Given the description of an element on the screen output the (x, y) to click on. 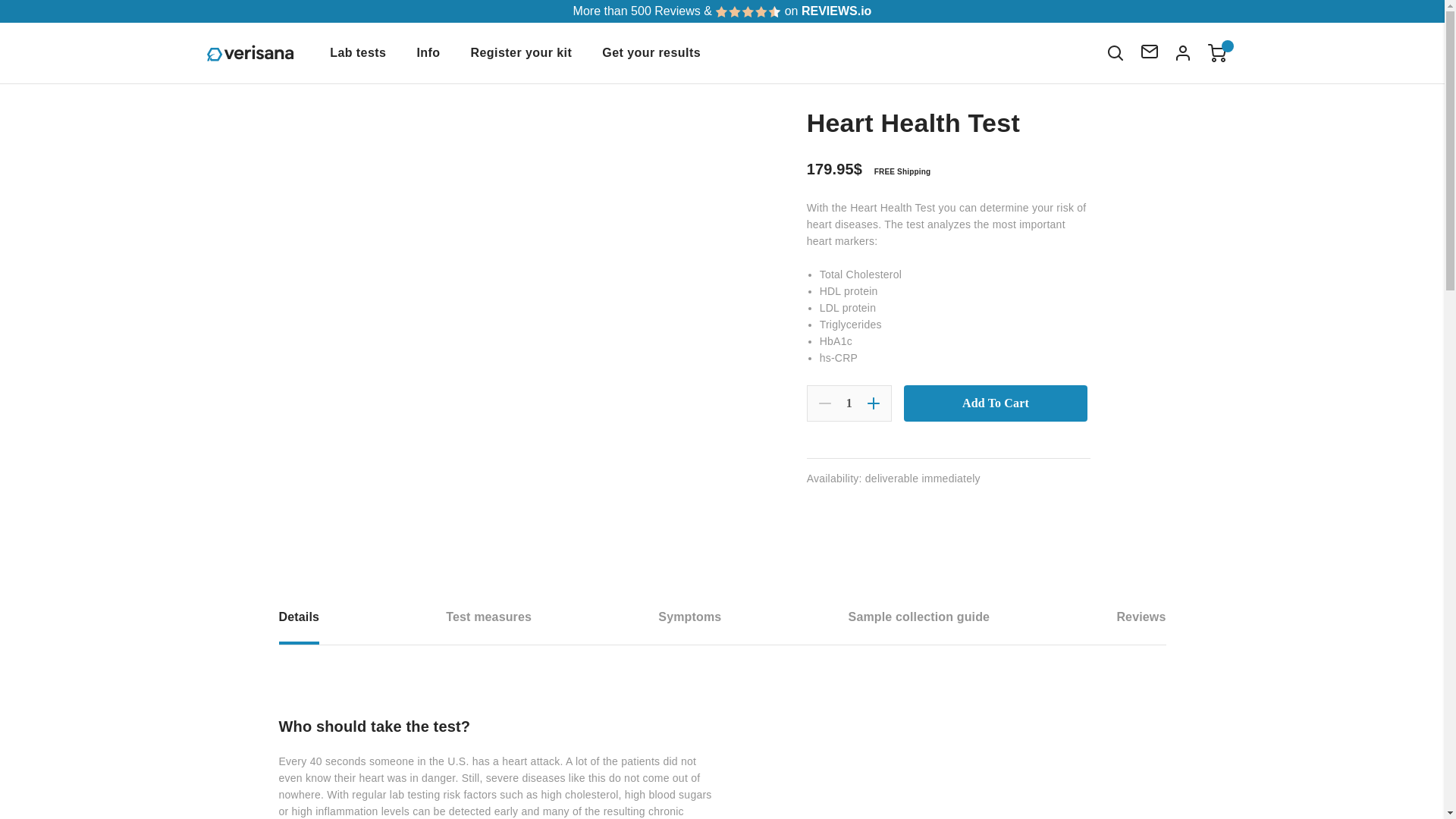
Qty (848, 402)
1 (848, 402)
Lab tests (357, 53)
